Given the description of an element on the screen output the (x, y) to click on. 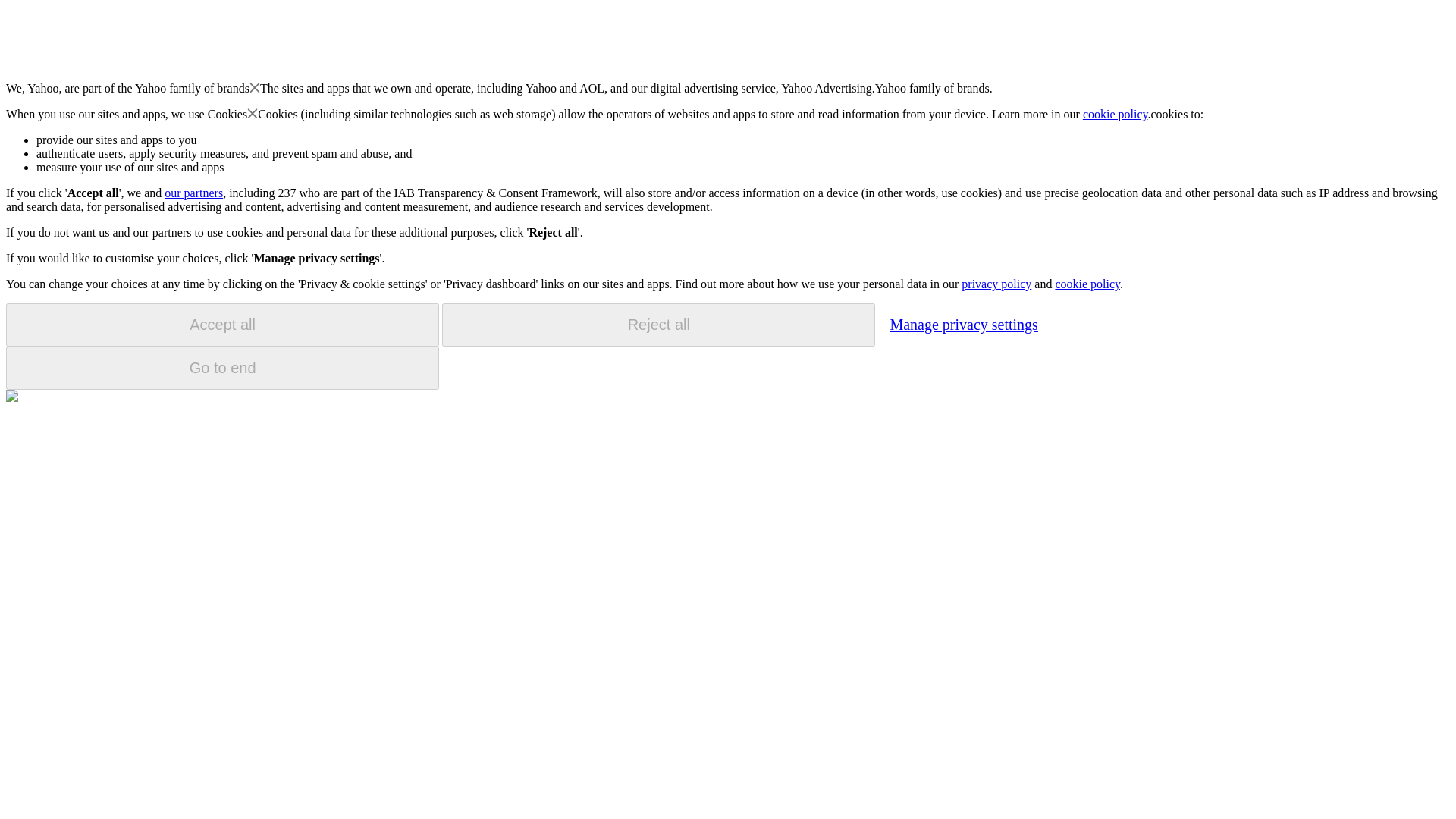
our partners (193, 192)
Manage privacy settings (963, 323)
Accept all (222, 324)
cookie policy (1086, 283)
privacy policy (995, 283)
Reject all (658, 324)
cookie policy (1115, 113)
Go to end (222, 367)
